Given the description of an element on the screen output the (x, y) to click on. 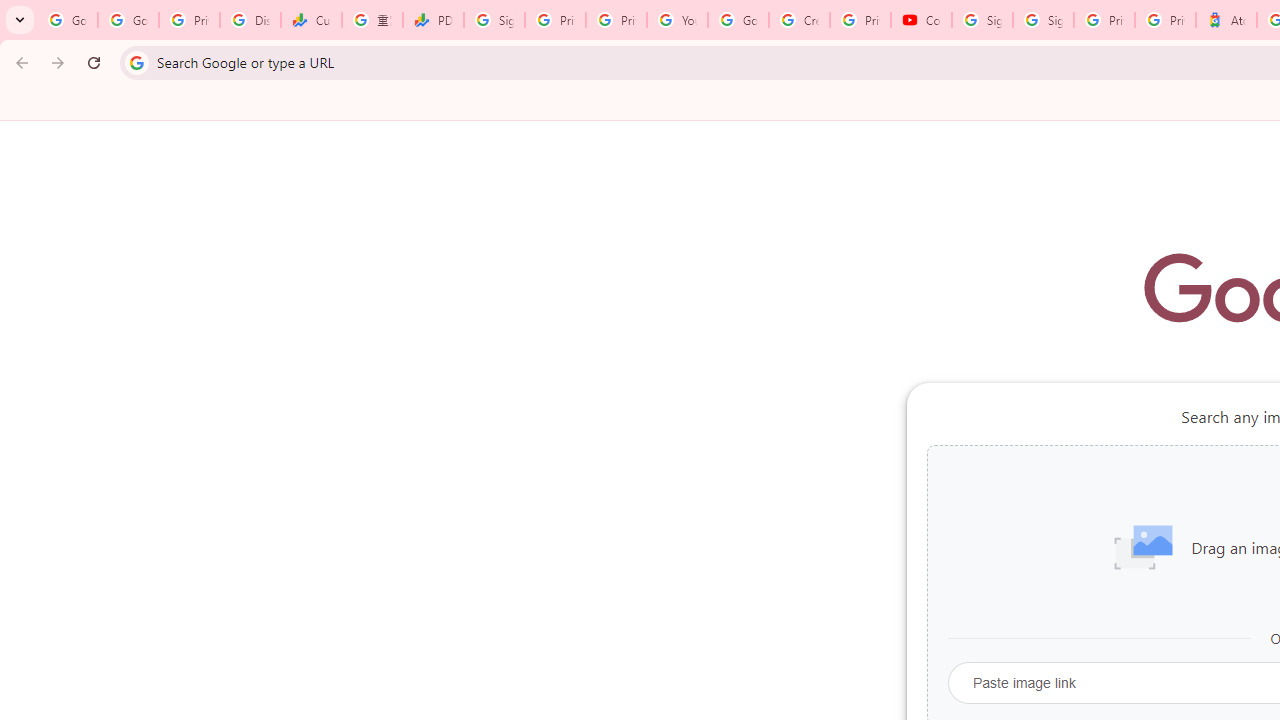
Sign in - Google Accounts (493, 20)
Currencies - Google Finance (310, 20)
Sign in - Google Accounts (1042, 20)
Privacy Checkup (616, 20)
YouTube (676, 20)
